Given the description of an element on the screen output the (x, y) to click on. 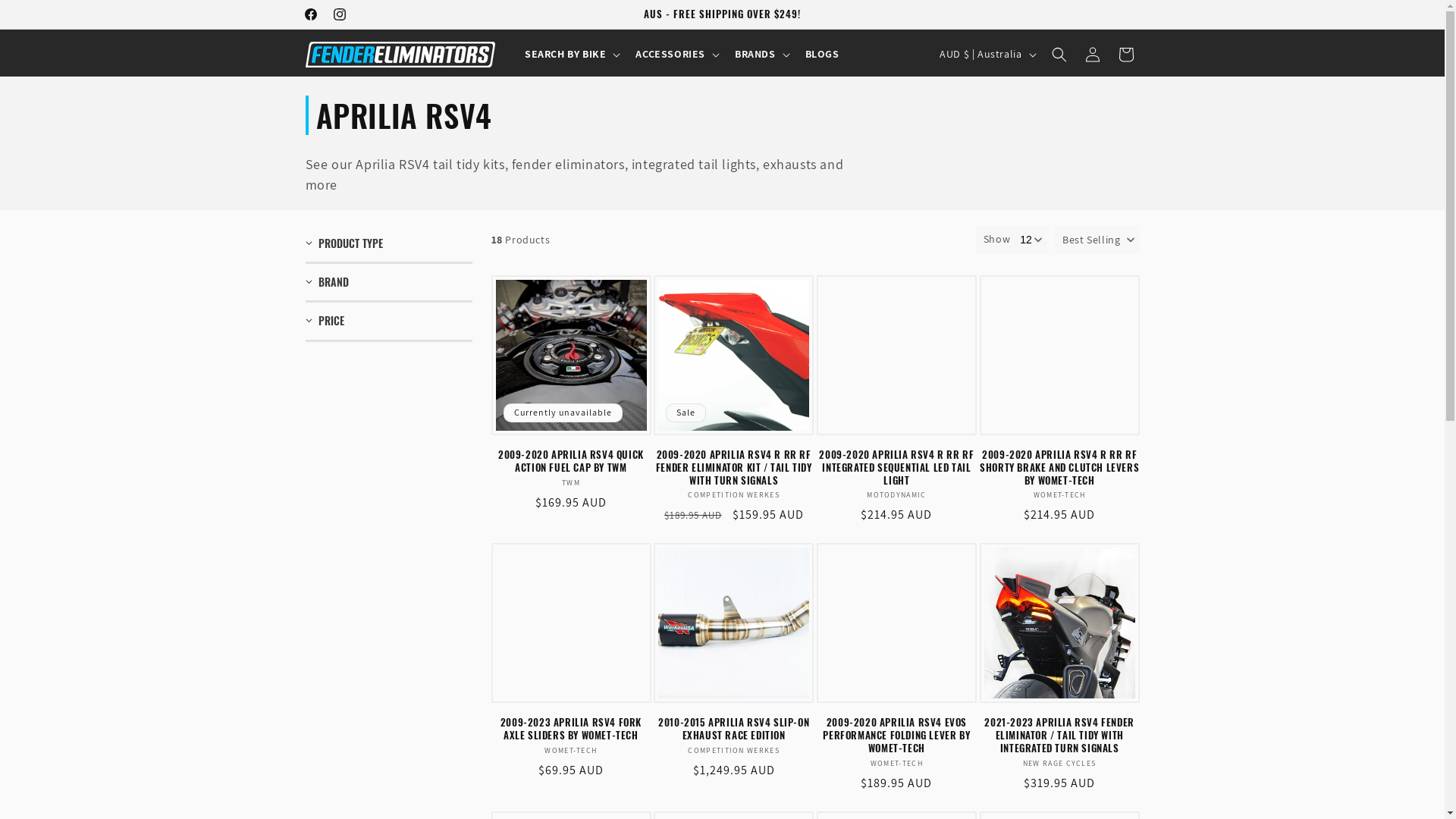
BLOGS Element type: text (822, 53)
Instagram Element type: text (338, 14)
Facebook Element type: text (309, 14)
Submit Element type: text (21, 7)
Cart Element type: text (1125, 54)
2009-2020 APRILIA RSV4 QUICK ACTION FUEL CAP BY TWM Element type: text (571, 460)
2010-2015 APRILIA RSV4 SLIP-ON EXHAUST RACE EDITION Element type: text (733, 728)
2009-2023 APRILIA RSV4 FORK AXLE SLIDERS BY WOMET-TECH Element type: text (571, 728)
Log in Element type: text (1091, 54)
AUD $ | Australia Element type: text (985, 53)
